Given the description of an element on the screen output the (x, y) to click on. 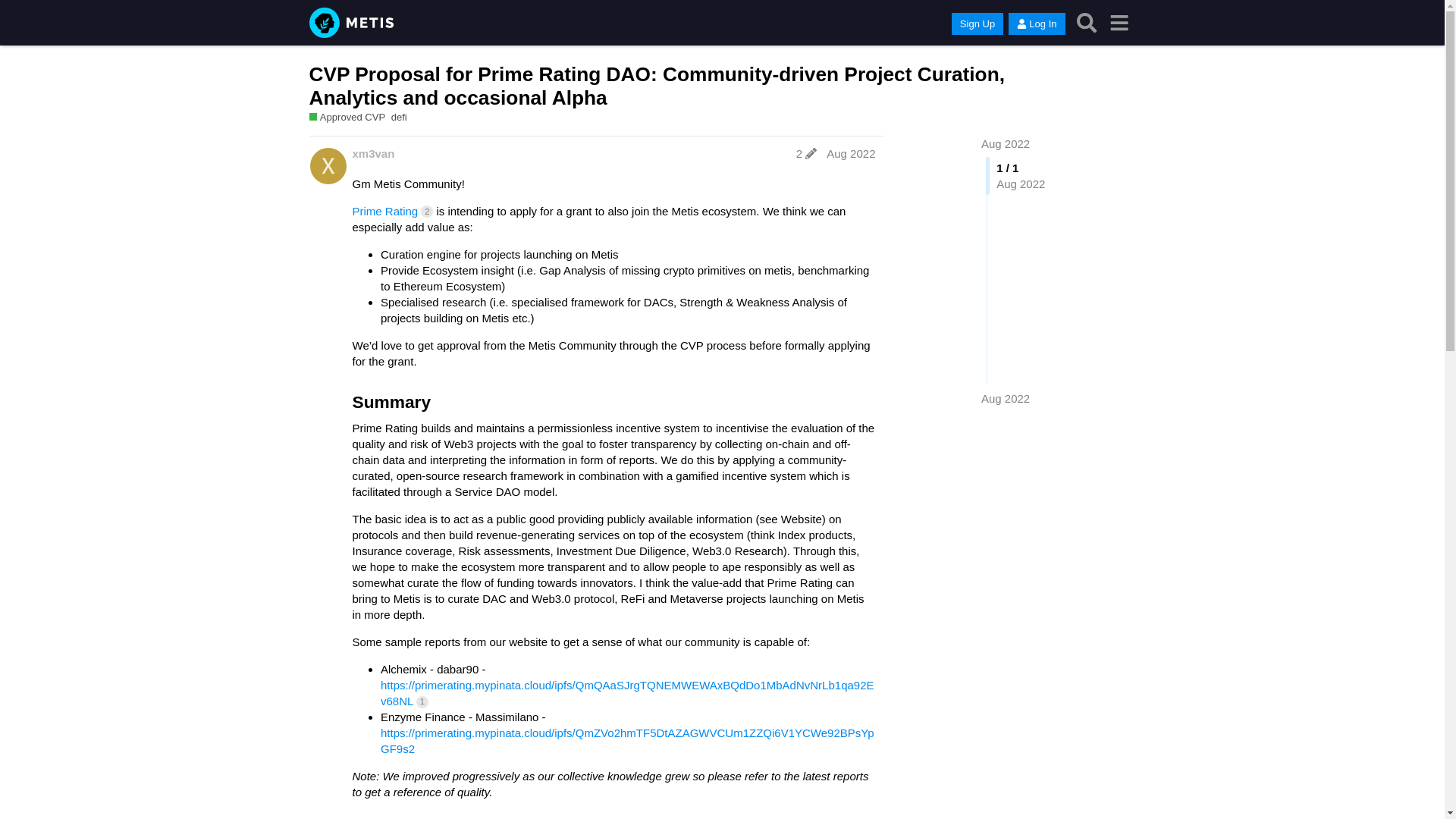
1 click (422, 702)
Aug 8, 2022 9:21 pm (1005, 398)
Search (1086, 22)
Aug 2022 (1005, 143)
Prime Rating 2 (392, 210)
Log In (1036, 24)
menu (1119, 22)
2 (806, 153)
Post date (851, 153)
xm3van (373, 153)
Proposals approved by the Community with a Snapshot vote (346, 117)
post last edited on Aug 22, 2022 9:21 pm (806, 153)
defi (399, 117)
Aug 2022 (1005, 143)
Sign Up (977, 24)
